Given the description of an element on the screen output the (x, y) to click on. 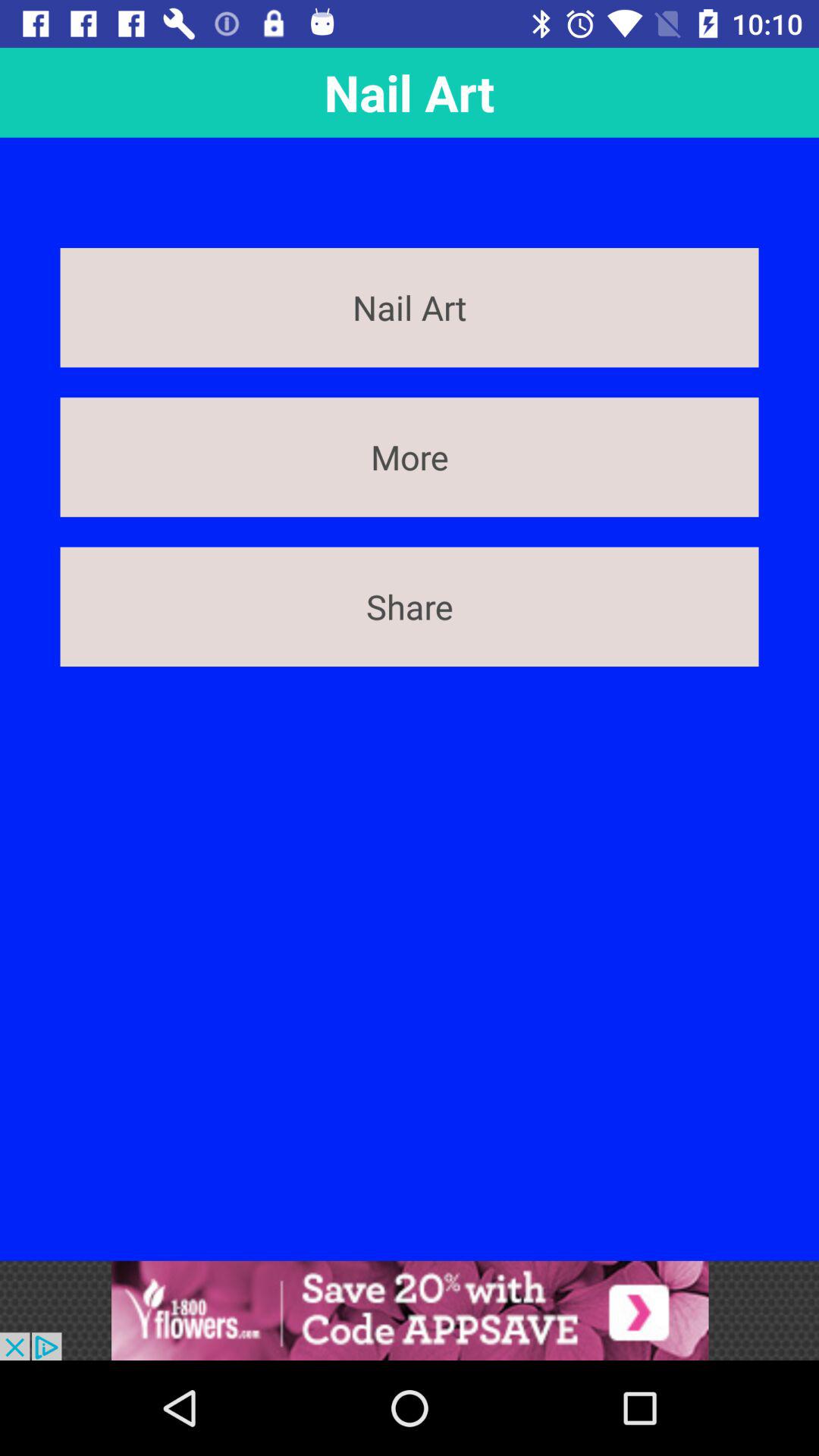
go to advertisement link (409, 1310)
